Given the description of an element on the screen output the (x, y) to click on. 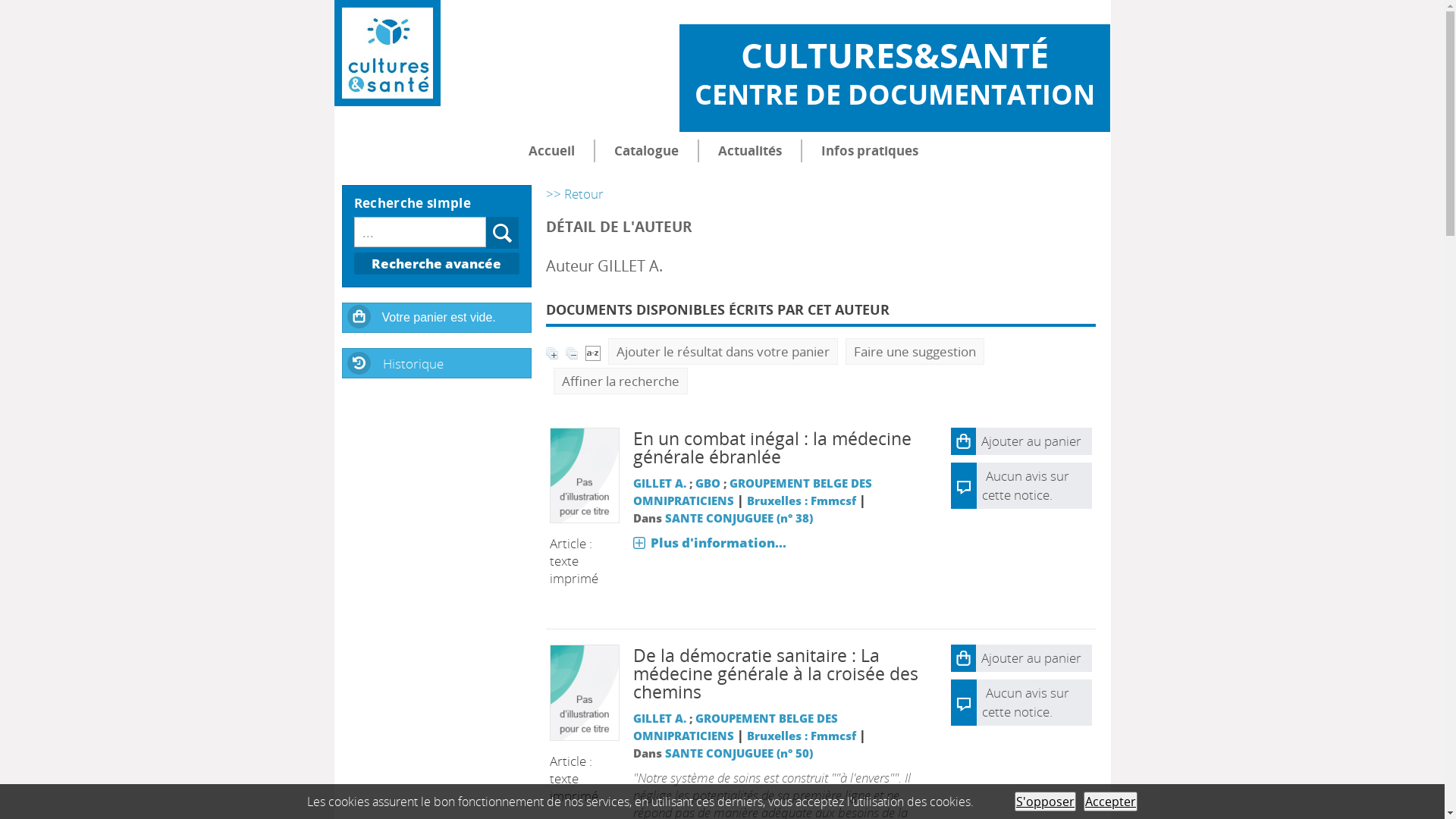
Infos pratiques Element type: text (869, 150)
Aucun avis sur cette notice. Element type: text (1025, 485)
Ajouter au panier Element type: text (1021, 441)
Plus d'information... Element type: text (709, 542)
Ajouter au panier Element type: text (1021, 657)
S'opposer Element type: text (1045, 801)
GROUPEMENT BELGE DES OMNIPRATICIENS Element type: text (735, 726)
Faire une suggestion Element type: text (913, 351)
Bruxelles : Fmmcsf Element type: text (801, 500)
Accepter Element type: text (1110, 801)
Affiner la recherche Element type: text (620, 380)
Catalogue Element type: text (645, 150)
Historique Element type: text (436, 361)
GILLET A. Element type: text (659, 717)
Aucun avis sur cette notice. Element type: text (1025, 702)
Rechercher Element type: text (502, 232)
Accueil Element type: text (551, 150)
Bruxelles : Fmmcsf Element type: text (801, 735)
GROUPEMENT BELGE DES OMNIPRATICIENS Element type: text (752, 491)
GILLET A. Element type: text (659, 482)
>> Retour Element type: text (574, 193)
GBO Element type: text (707, 482)
Tris disponibles Element type: hover (592, 351)
